Given the description of an element on the screen output the (x, y) to click on. 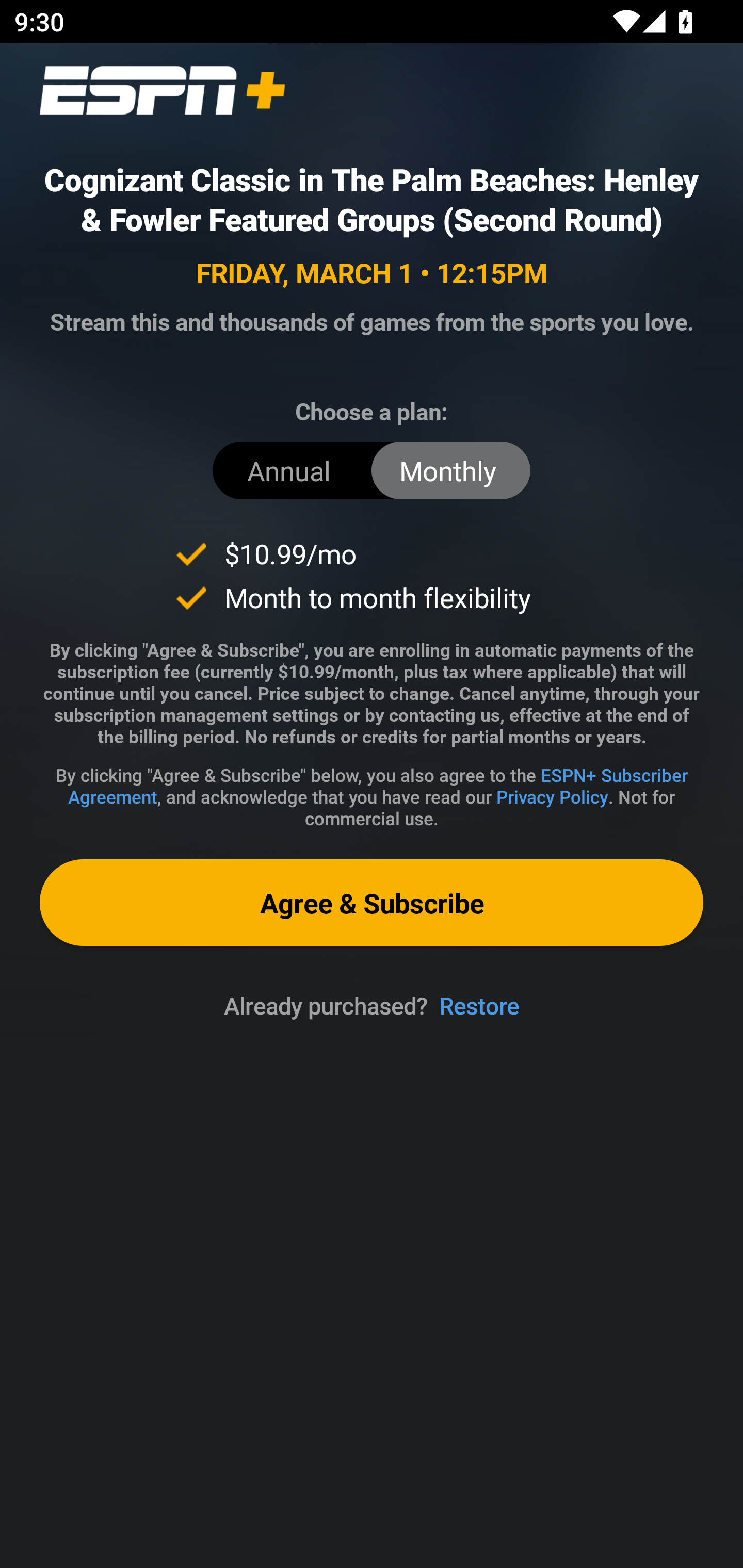
Agree & Subscribe (371, 902)
